Given the description of an element on the screen output the (x, y) to click on. 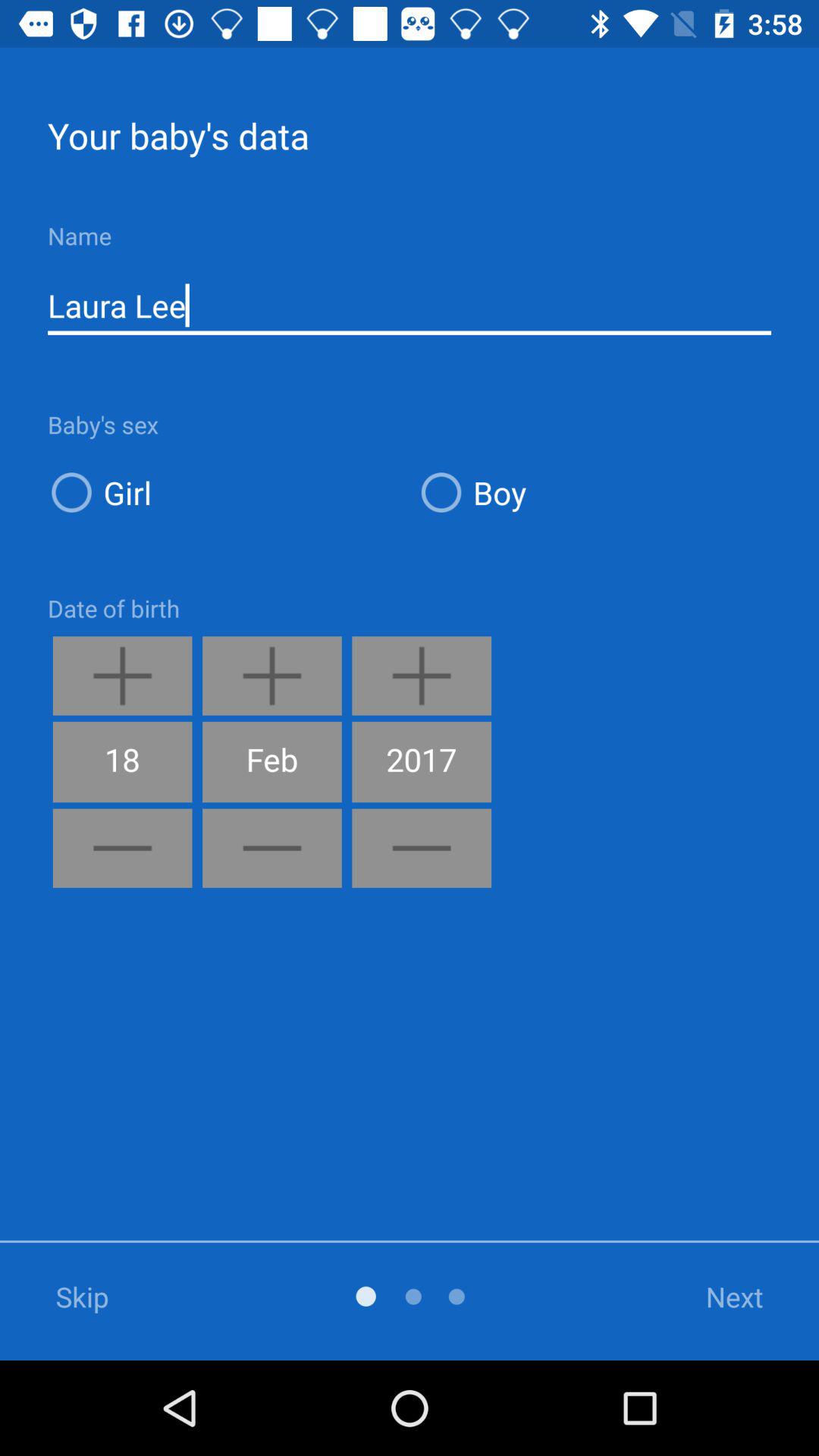
click the next item (715, 1296)
